Given the description of an element on the screen output the (x, y) to click on. 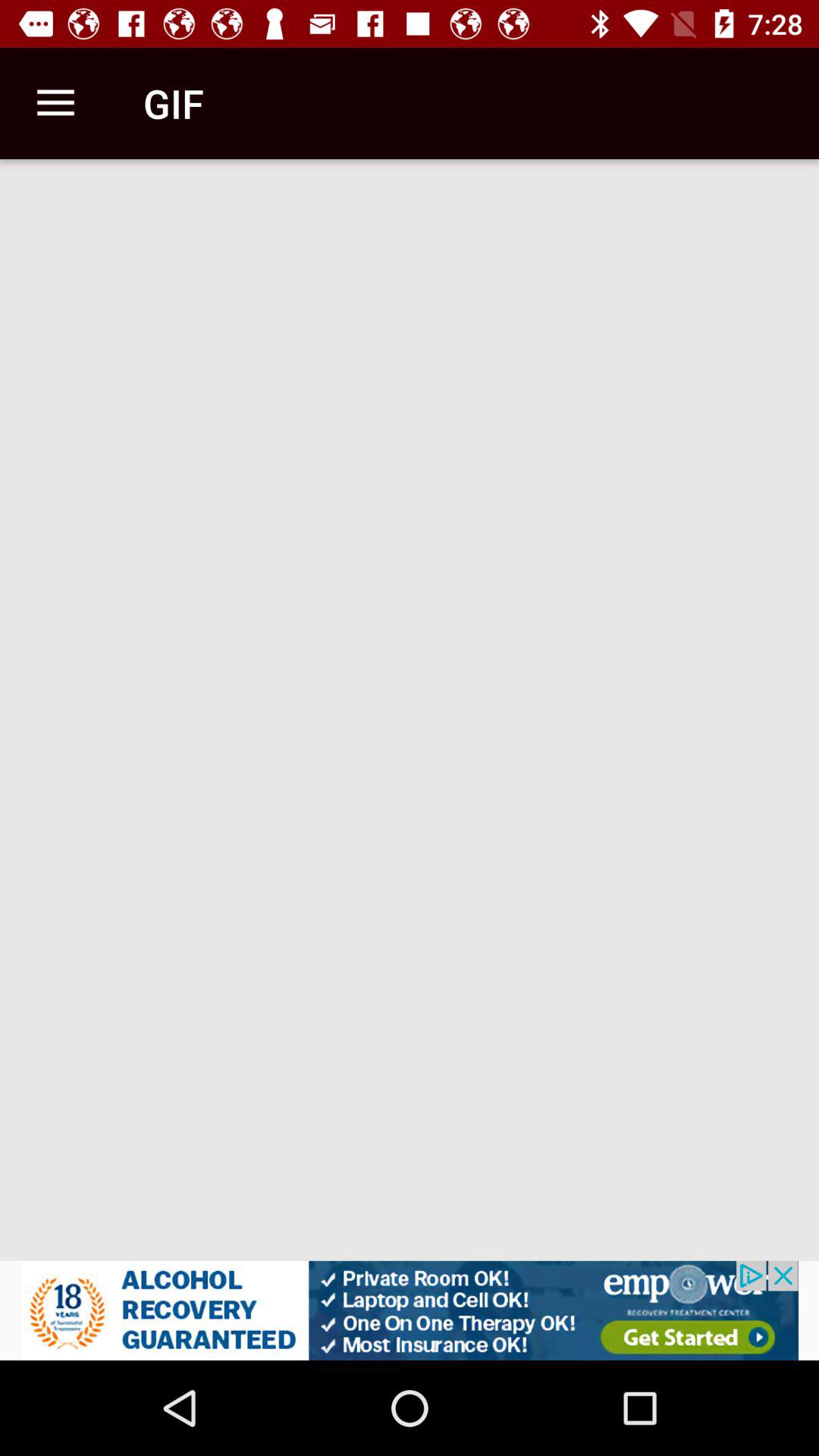
view advertisement (409, 1310)
